Given the description of an element on the screen output the (x, y) to click on. 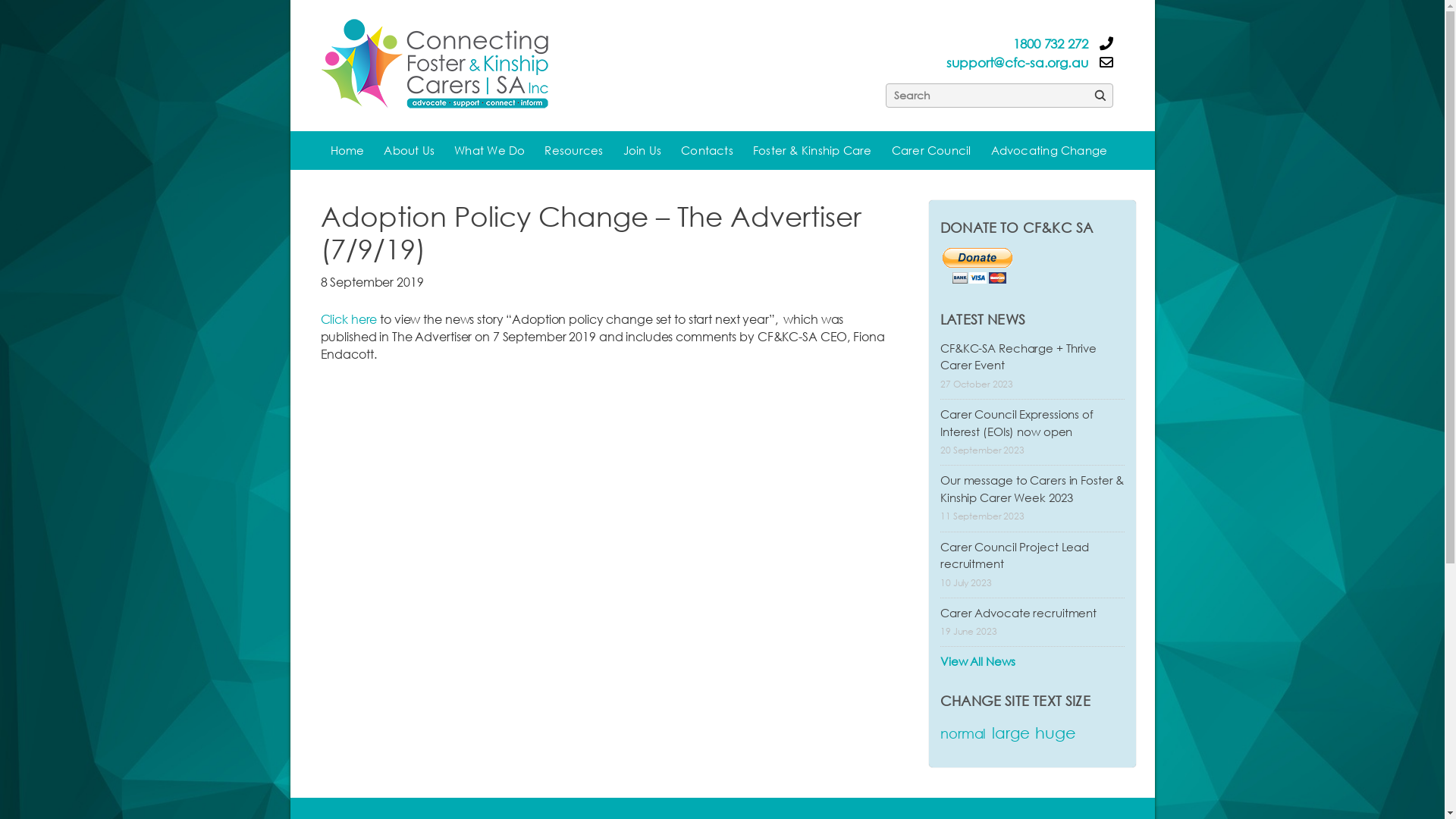
Contacts Element type: text (707, 150)
huge Element type: text (1055, 732)
1800 732 272 Element type: text (1050, 43)
Advocating Change Element type: text (1049, 150)
large Element type: text (1010, 732)
About Us Element type: text (408, 150)
Carer Advocate recruitment Element type: text (1018, 612)
What We Do Element type: text (489, 150)
CF&KC-SA Recharge + Thrive Carer Event Element type: text (1018, 356)
View All News Element type: text (977, 660)
Our message to Carers in Foster & Kinship Carer Week 2023 Element type: text (1031, 488)
Carer Council Project Lead recruitment Element type: text (1014, 555)
Carer Council Expressions of Interest (EOIs) now open Element type: text (1016, 422)
Resources Element type: text (573, 150)
support@cfc-sa.org.au Element type: text (1016, 62)
PayPal - The safer, easier way to pay online! Element type: hover (977, 265)
Foster & Kinship Care Element type: text (812, 150)
Type and press Enter to search. Element type: hover (916, 95)
Carer Council Element type: text (931, 150)
normal Element type: text (962, 732)
Join Us Element type: text (641, 150)
Home Element type: text (346, 150)
Click here Element type: text (348, 318)
